Given the description of an element on the screen output the (x, y) to click on. 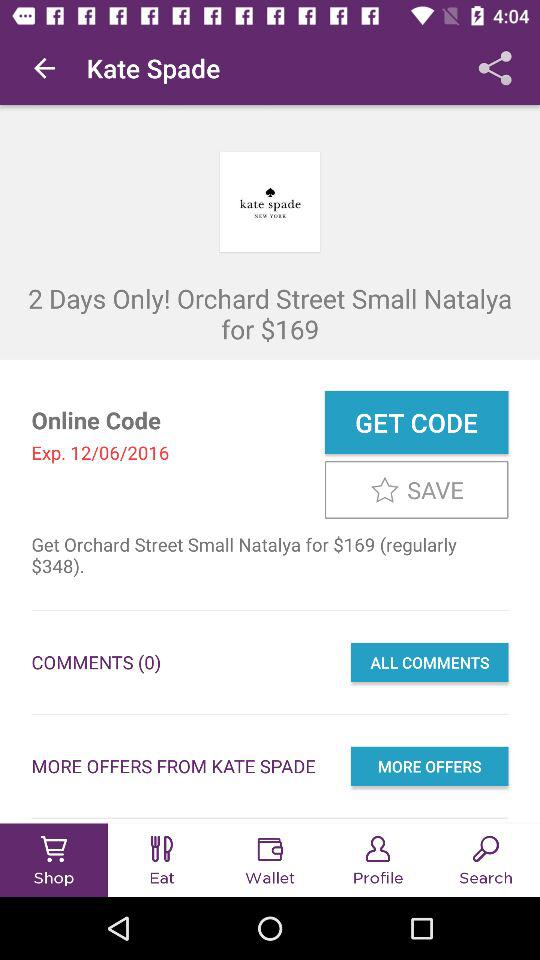
open the item above the more offers (429, 662)
